Given the description of an element on the screen output the (x, y) to click on. 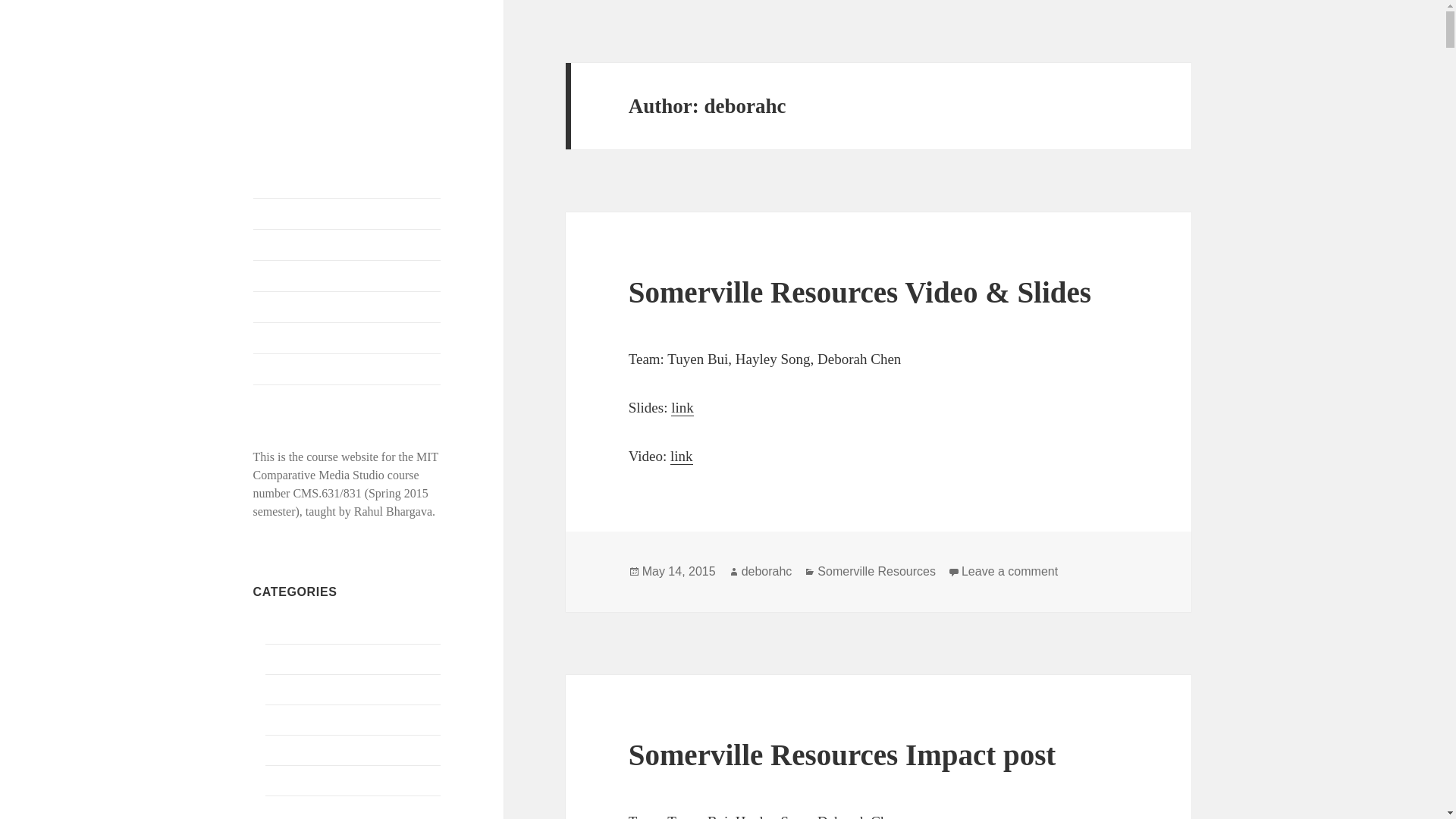
Course Outline (347, 245)
Course Syllabus (347, 276)
assignments (283, 627)
data logs (286, 718)
data questions (299, 809)
data games (292, 688)
data charts (290, 658)
About (347, 368)
Home (347, 214)
data maps (289, 748)
